Given the description of an element on the screen output the (x, y) to click on. 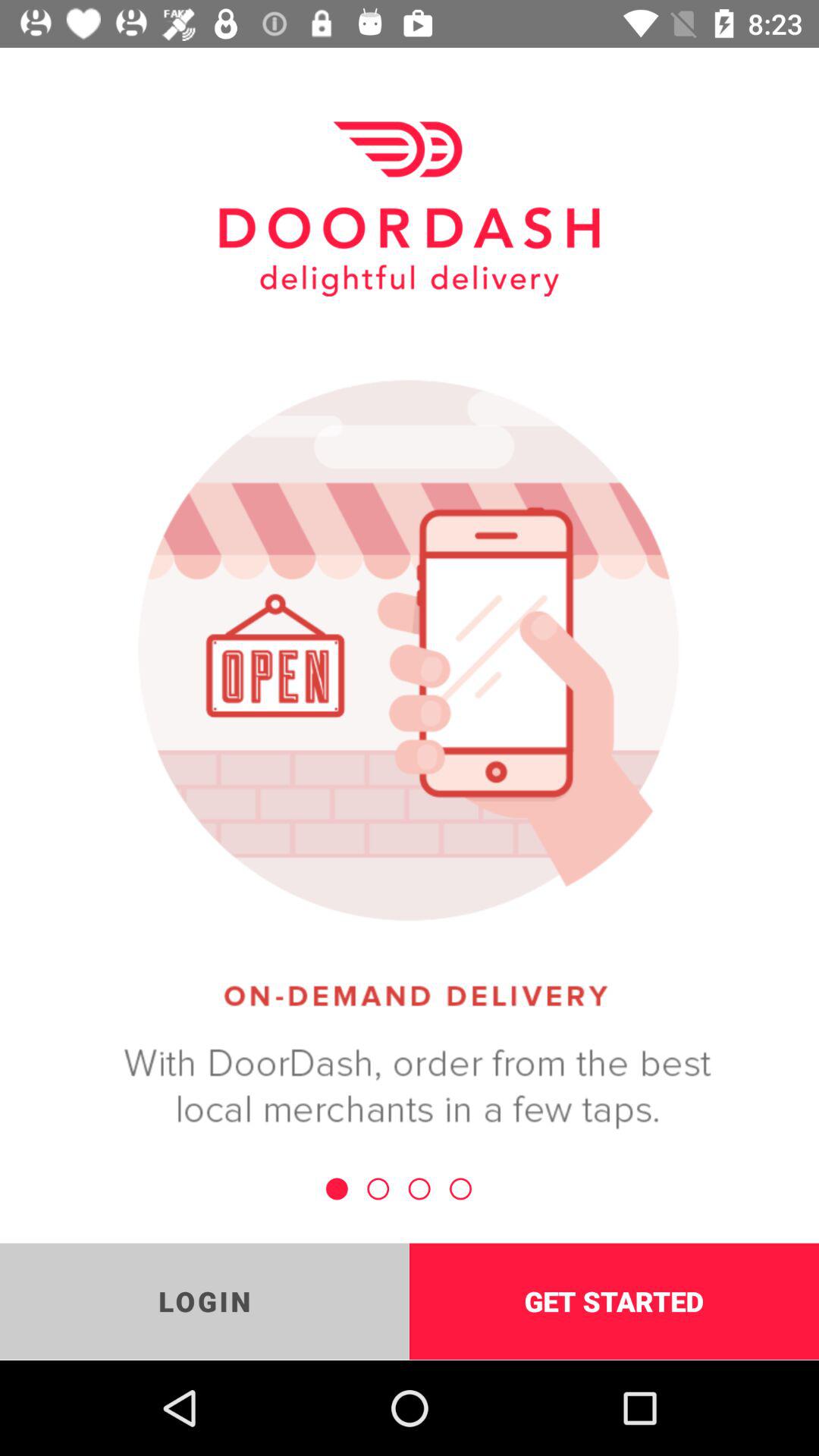
press the get started icon (614, 1301)
